Given the description of an element on the screen output the (x, y) to click on. 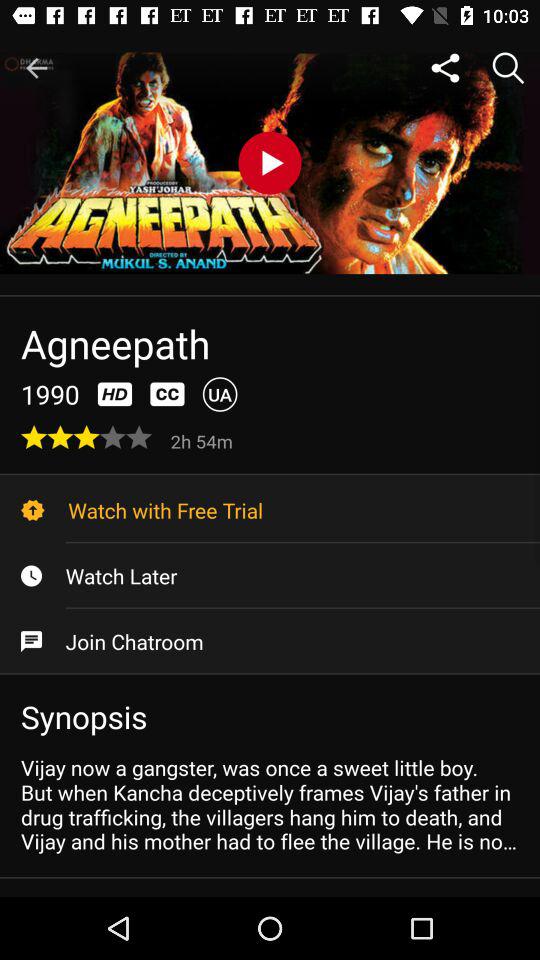
click on cc (167, 394)
